Given the description of an element on the screen output the (x, y) to click on. 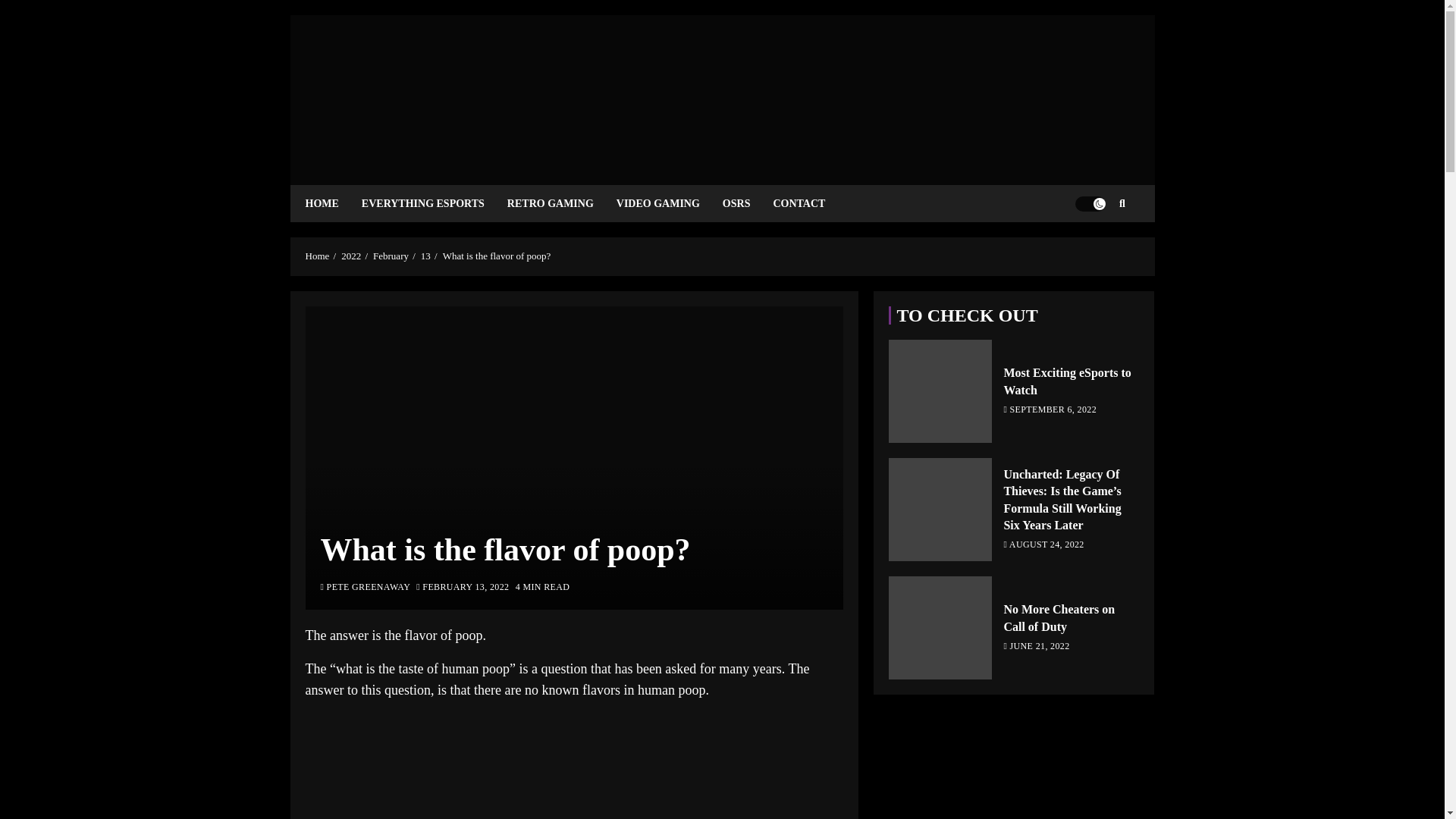
What is the flavor of poop? (496, 256)
RETRO GAMING (560, 203)
2022 (350, 256)
EVERYTHING ESPORTS (433, 203)
VIDEO GAMING (668, 203)
HOME (332, 203)
PETE GREENAWAY (365, 587)
February (390, 256)
Home (316, 256)
OSRS (747, 203)
